Given the description of an element on the screen output the (x, y) to click on. 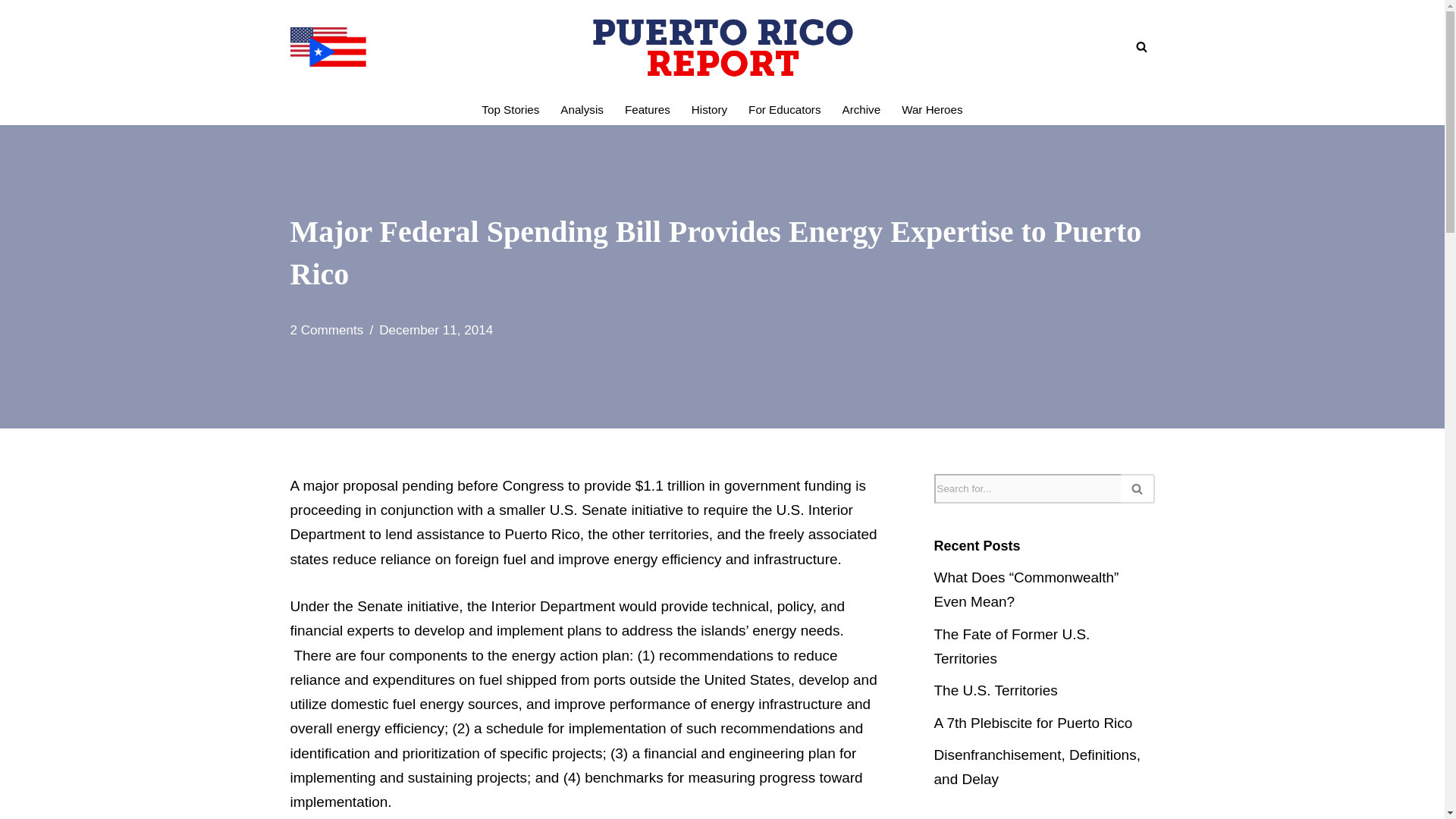
History (708, 108)
2 Comments (325, 329)
Features (646, 108)
Top Stories (509, 108)
Skip to content (11, 31)
For Educators (784, 108)
Archive (860, 108)
War Heroes (931, 108)
Analysis (582, 108)
